Given the description of an element on the screen output the (x, y) to click on. 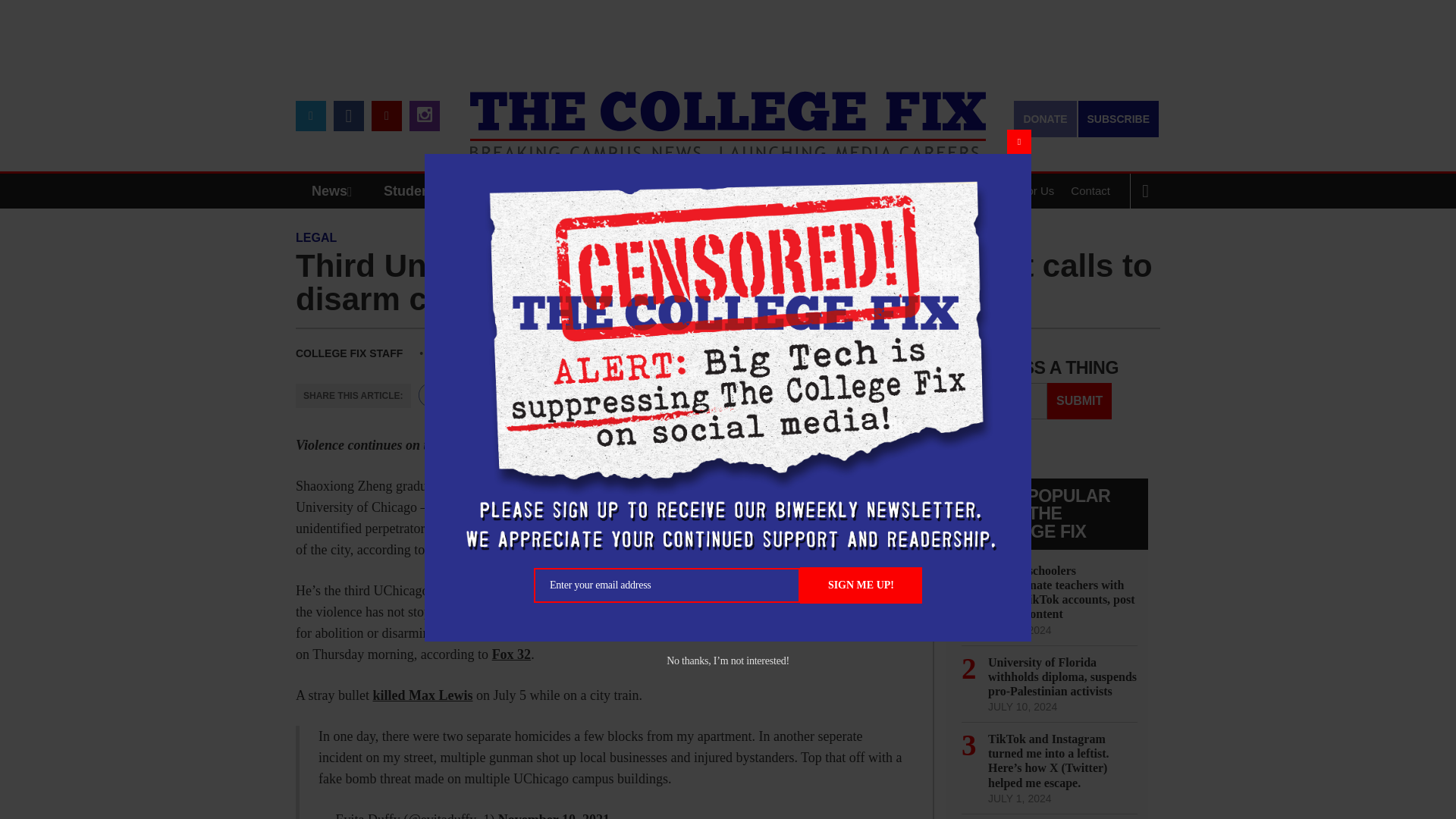
DONATE (1044, 118)
MERCHANDISE (577, 190)
About The Fix (938, 190)
Submit (1079, 401)
Student Reporters (443, 190)
SUBSCRIBE (1118, 118)
The College Fix (727, 114)
News (335, 190)
